Given the description of an element on the screen output the (x, y) to click on. 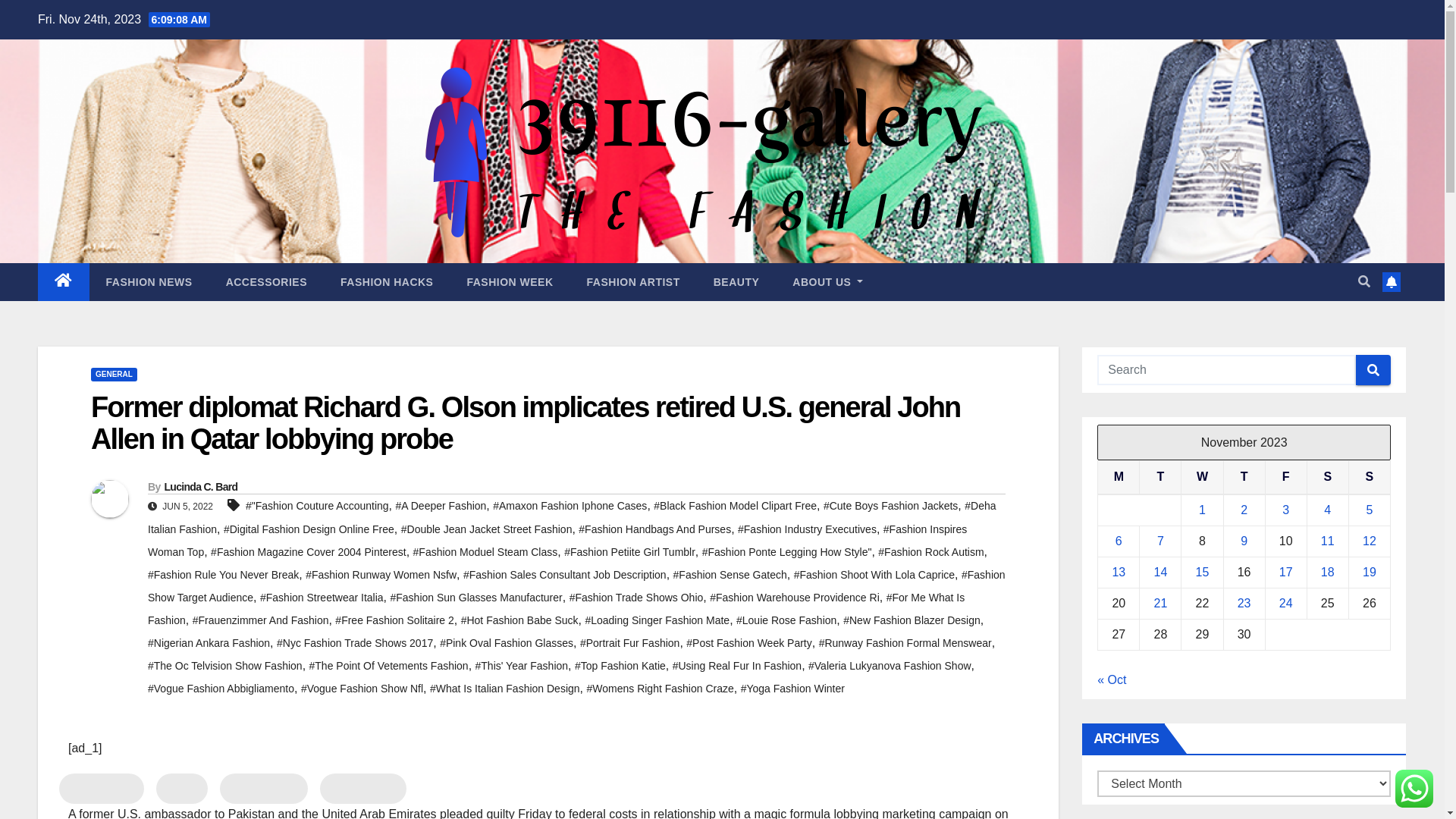
#Fashion Sun Glasses Manufacturer Element type: text (475, 597)
#Womens Right Fashion Craze Element type: text (659, 688)
#Free Fashion Solitaire 2 Element type: text (394, 620)
#Portrait Fur Fashion Element type: text (630, 643)
#What Is Italian Fashion Design Element type: text (504, 688)
FASHION HACKS Element type: text (386, 282)
FASHION WEEK Element type: text (509, 282)
#The Oc Telvision Show Fashion Element type: text (224, 665)
1 Element type: text (1201, 509)
#For Me What Is Fashion Element type: text (555, 608)
21 Element type: text (1160, 602)
#Fashion Magazine Cover 2004 Pinterest Element type: text (308, 552)
#Top Fashion Katie Element type: text (619, 665)
23 Element type: text (1244, 602)
#This' Year Fashion Element type: text (521, 665)
#Fashion Petiite Girl Tumblr Element type: text (629, 552)
#Fashion Sense Gatech Element type: text (730, 574)
FASHION ARTIST Element type: text (633, 282)
ABOUT US Element type: text (827, 282)
7 Element type: text (1160, 540)
#Deha Italian Fashion Element type: text (571, 517)
#Fashion Rock Autism Element type: text (930, 552)
19 Element type: text (1369, 571)
#Fashion Industry Executives Element type: text (806, 529)
#Yoga Fashion Winter Element type: text (792, 688)
17 Element type: text (1285, 571)
#Valeria Lukyanova Fashion Show Element type: text (889, 665)
#Fashion Ponte Legging How Style" Element type: text (787, 552)
#Nigerian Ankara Fashion Element type: text (208, 643)
#Hot Fashion Babe Suck Element type: text (519, 620)
#Pink Oval Fashion Glasses Element type: text (506, 643)
#Black Fashion Model Clipart Free Element type: text (734, 505)
11 Element type: text (1327, 540)
#Fashion Sales Consultant Job Description Element type: text (564, 574)
#Louie Rose Fashion Element type: text (786, 620)
FASHION NEWS Element type: text (149, 282)
3 Element type: text (1285, 509)
14 Element type: text (1160, 571)
4 Element type: text (1327, 509)
#Loading Singer Fashion Mate Element type: text (656, 620)
#Fashion Trade Shows Ohio Element type: text (636, 597)
#New Fashion Blazer Design Element type: text (911, 620)
#Vogue Fashion Abbigliamento Element type: text (220, 688)
Lucinda C. Bard Element type: text (200, 486)
#The Point Of Vetements Fashion Element type: text (388, 665)
#Fashion Show Target Audience Element type: text (576, 585)
#Cute Boys Fashion Jackets Element type: text (890, 505)
BEAUTY Element type: text (736, 282)
6 Element type: text (1118, 540)
ACCESSORIES Element type: text (266, 282)
#Fashion Streetwear Italia Element type: text (321, 597)
#Frauenzimmer And Fashion Element type: text (260, 620)
GENERAL Element type: text (114, 374)
13 Element type: text (1118, 571)
#"Fashion Couture Accounting Element type: text (317, 505)
#Amaxon Fashion Iphone Cases Element type: text (569, 505)
2 Element type: text (1243, 509)
15 Element type: text (1202, 571)
#Post Fashion Week Party Element type: text (748, 643)
#Vogue Fashion Show Nfl Element type: text (362, 688)
#Fashion Rule You Never Break Element type: text (222, 574)
#Fashion Runway Women Nsfw Element type: text (380, 574)
#Fashion Handbags And Purses Element type: text (654, 529)
#Fashion Moduel Steam Class Element type: text (485, 552)
#Fashion Shoot With Lola Caprice Element type: text (873, 574)
9 Element type: text (1243, 540)
12 Element type: text (1369, 540)
5 Element type: text (1368, 509)
18 Element type: text (1327, 571)
#Runway Fashion Formal Menswear Element type: text (905, 643)
#Fashion Inspires Woman Top Element type: text (556, 540)
#Digital Fashion Design Online Free Element type: text (308, 529)
#Nyc Fashion Trade Shows 2017 Element type: text (354, 643)
#A Deeper Fashion Element type: text (440, 505)
#Fashion Warehouse Providence Ri Element type: text (794, 597)
#Using Real Fur In Fashion Element type: text (736, 665)
#Double Jean Jacket Street Fashion Element type: text (486, 529)
